Given the description of an element on the screen output the (x, y) to click on. 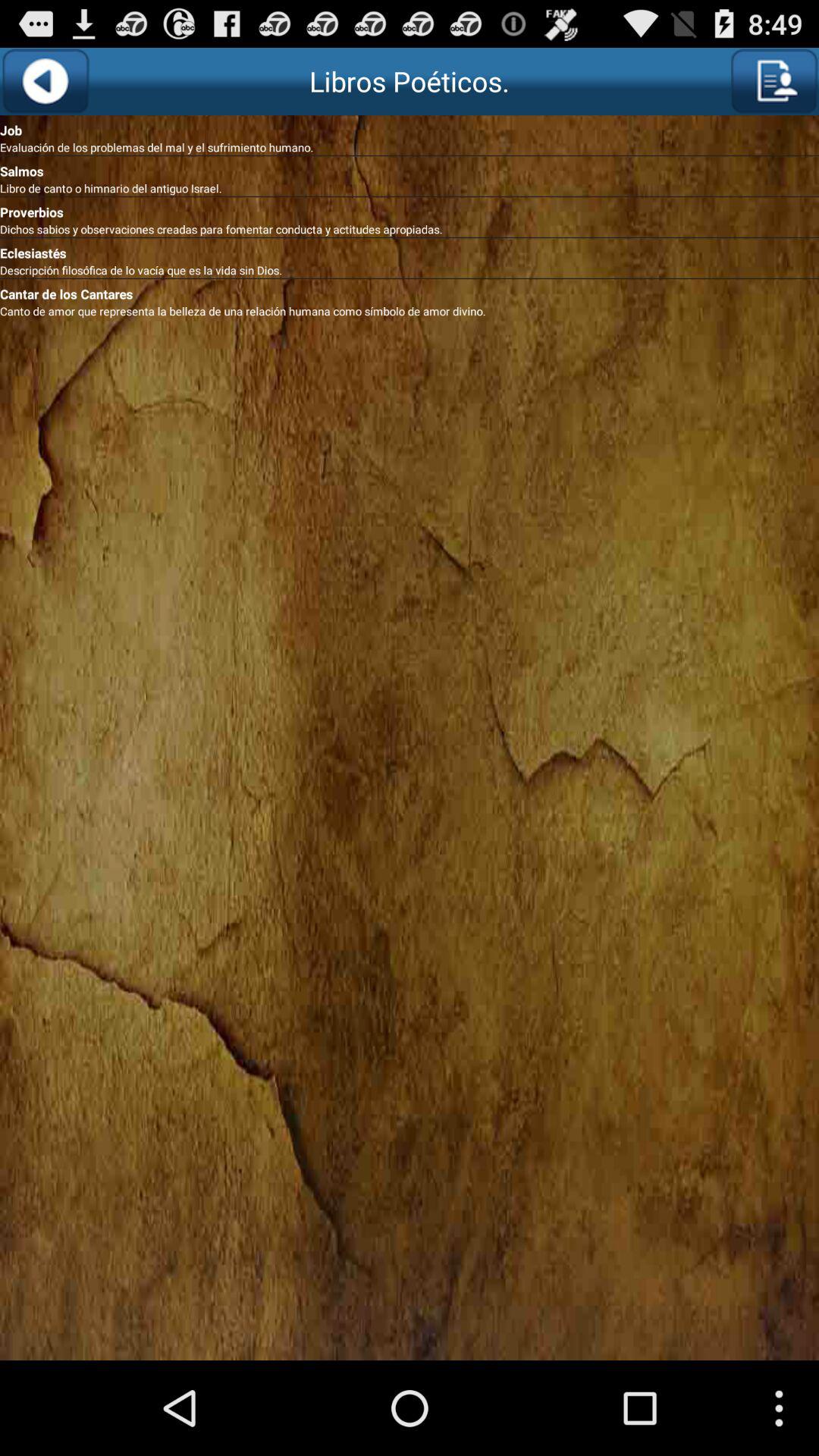
turn on the proverbios (409, 209)
